Given the description of an element on the screen output the (x, y) to click on. 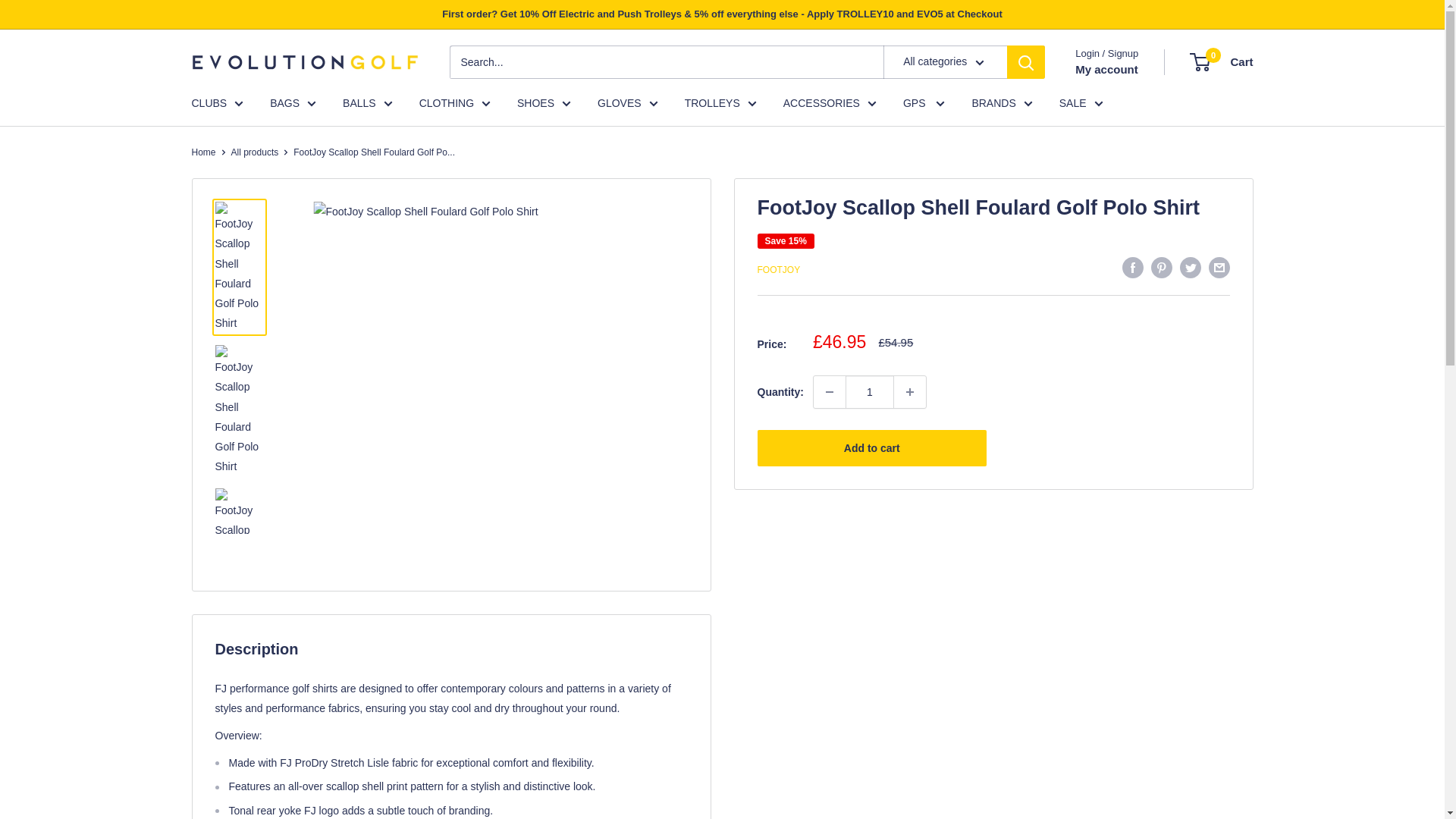
Increase quantity by 1 (909, 391)
1 (869, 391)
Decrease quantity by 1 (829, 391)
